Given the description of an element on the screen output the (x, y) to click on. 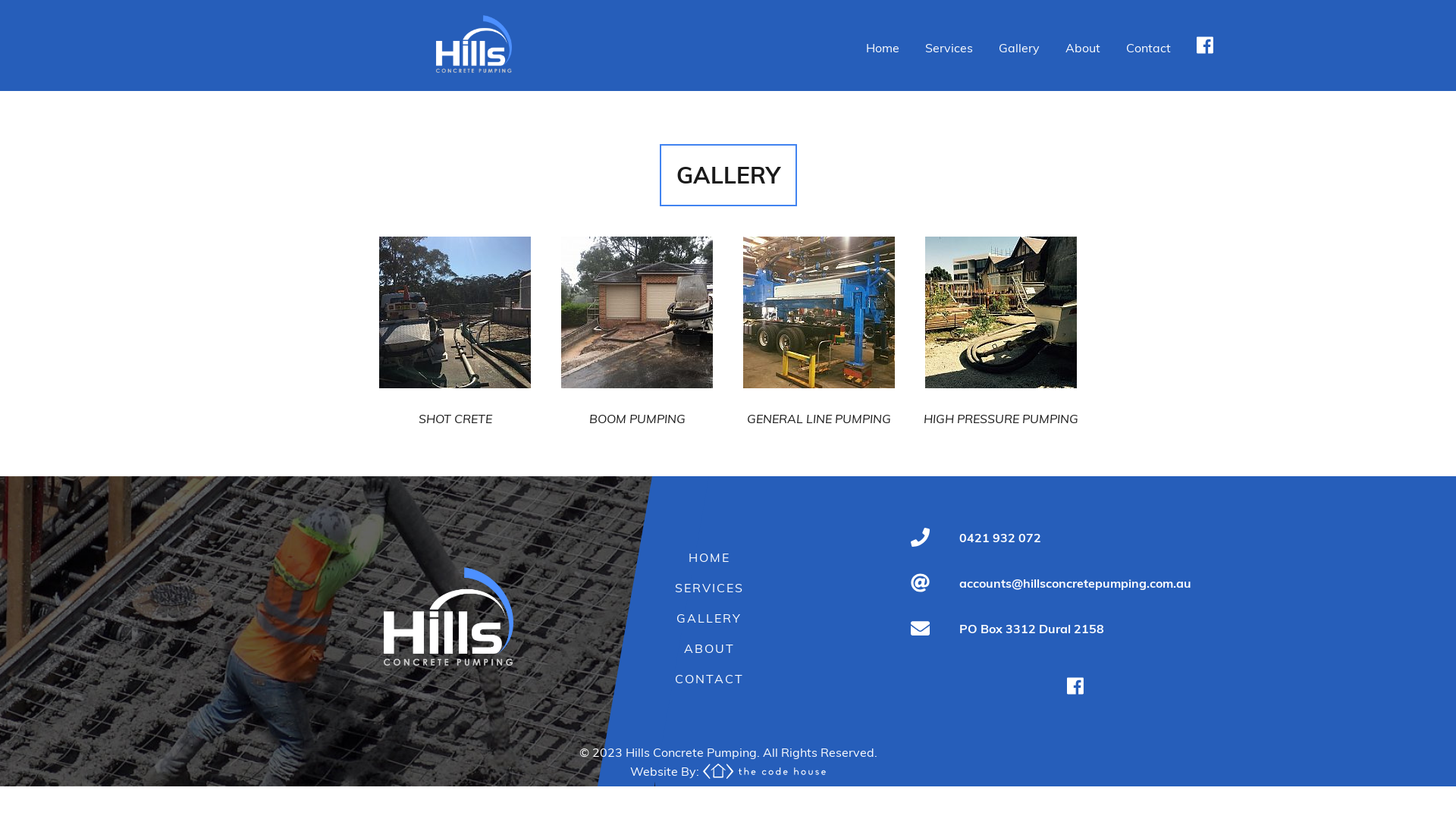
HIGH PRESSURE PUMPING Element type: text (1001, 404)
GALLERY Element type: text (708, 617)
Services Element type: text (948, 47)
Home Element type: text (882, 47)
accounts@hillsconcretepumping.com.au Element type: text (1075, 582)
About Element type: text (1082, 47)
HOME Element type: text (709, 556)
Gallery Element type: text (1018, 47)
GENERAL LINE PUMPING Element type: text (819, 404)
Contact Element type: text (1148, 47)
SERVICES Element type: text (708, 587)
CONTACT Element type: text (708, 678)
SHOT CRETE Element type: text (455, 404)
BOOM PUMPING Element type: text (637, 404)
ABOUT Element type: text (709, 647)
